Given the description of an element on the screen output the (x, y) to click on. 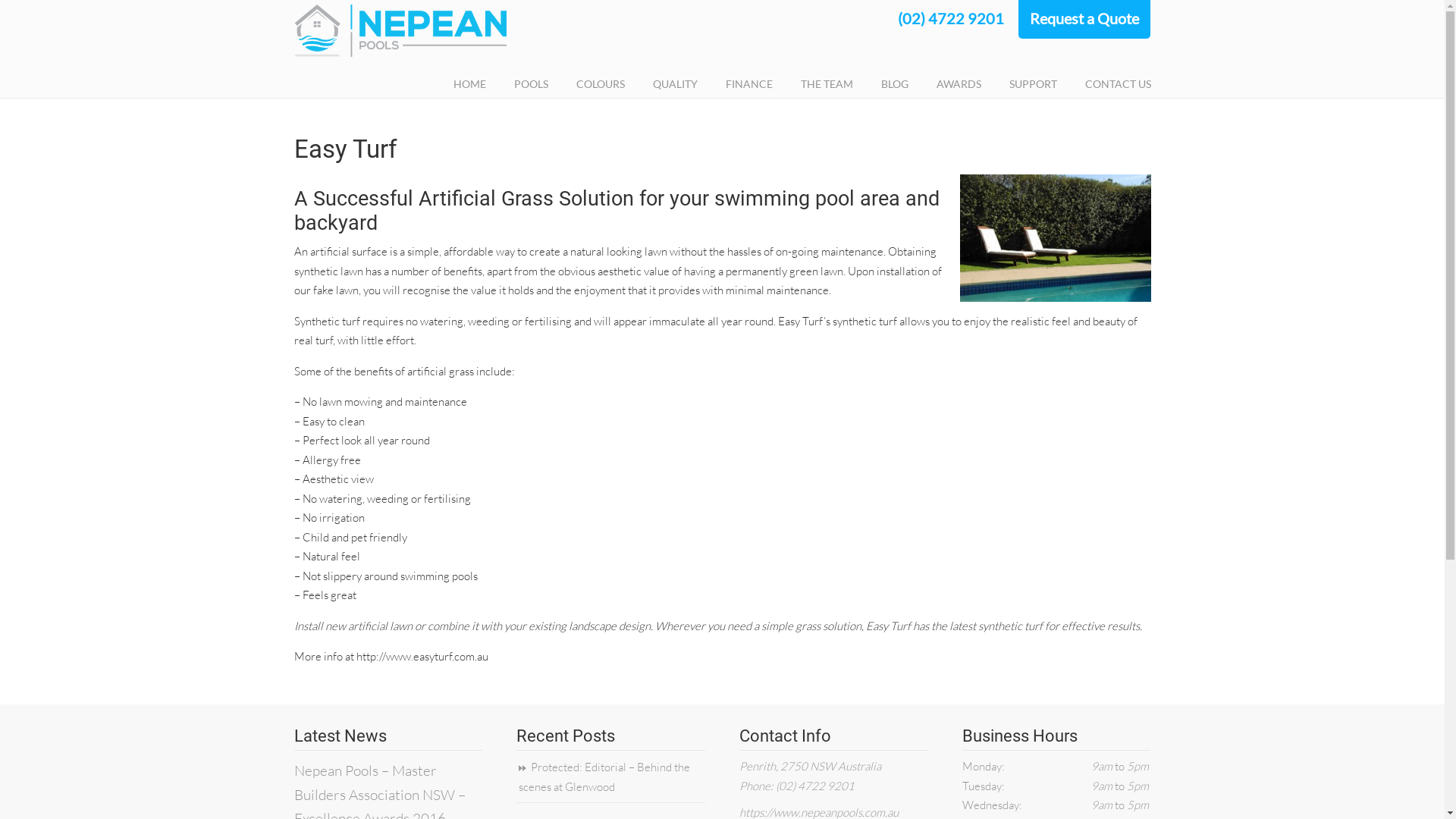
COLOURS Element type: text (600, 84)
HOME Element type: text (469, 84)
AWARDS Element type: text (957, 84)
POOLS Element type: text (530, 84)
THE TEAM Element type: text (826, 84)
CONTACT US Element type: text (1117, 84)
SUPPORT Element type: text (1032, 84)
BLOG Element type: text (894, 84)
FINANCE Element type: text (748, 84)
(02) 4722 9201 Element type: text (814, 785)
(02) 4722 9201 Element type: text (950, 18)
Nepean Pools Element type: text (400, 30)
QUALITY Element type: text (674, 84)
